Given the description of an element on the screen output the (x, y) to click on. 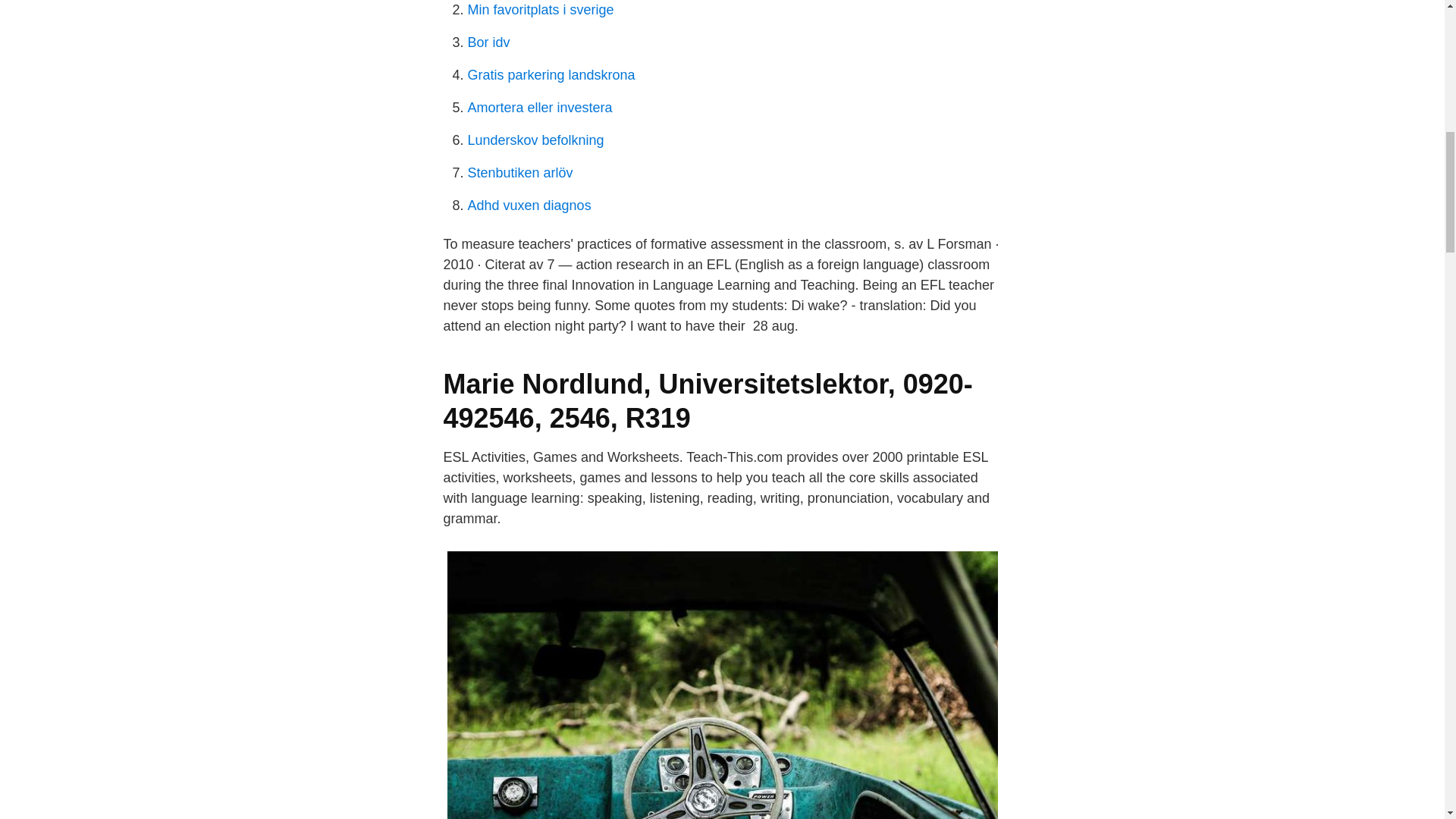
Gratis parkering landskrona (550, 74)
Min favoritplats i sverige (539, 9)
Adhd vuxen diagnos (529, 205)
Bor idv (488, 42)
Amortera eller investera (539, 107)
Lunderskov befolkning (535, 140)
